Given the description of an element on the screen output the (x, y) to click on. 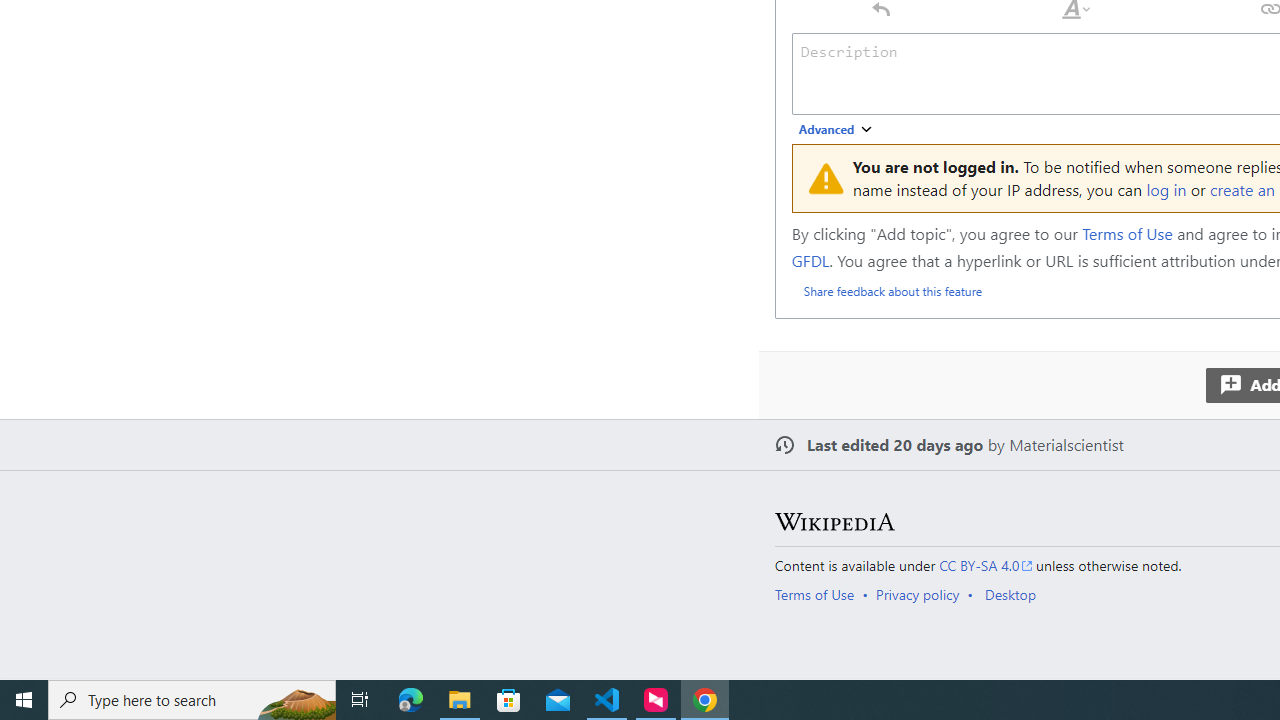
Advanced (836, 129)
AutomationID: footer-places-desktop-toggle (1014, 594)
AutomationID: footer-places-terms-use (820, 594)
Privacy policy (917, 594)
AutomationID: footer-places-privacy (923, 594)
Wikipedia (834, 522)
log in (1165, 188)
CC BY-SA 4.0 (985, 565)
Share feedback about this feature (892, 290)
GFDL (810, 259)
Terms of Use (814, 594)
Desktop (1010, 594)
